Given the description of an element on the screen output the (x, y) to click on. 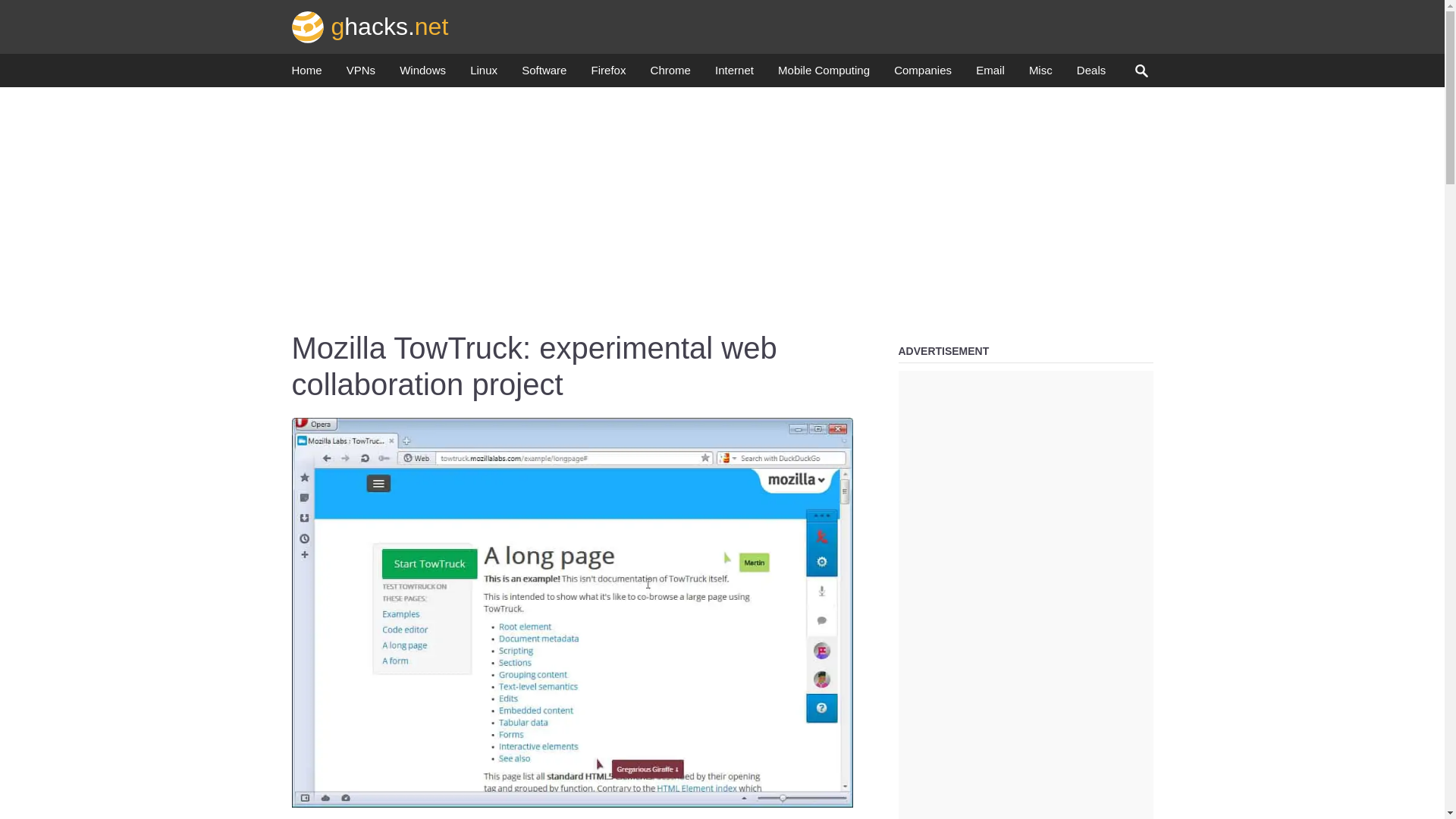
Internet (734, 73)
Software (543, 73)
Companies (922, 73)
Home (306, 73)
Chrome (670, 73)
Mobile Computing (823, 73)
VPNs (360, 73)
Firefox (608, 73)
Windows (421, 73)
Email (989, 73)
Linux (483, 73)
Misc (1040, 73)
Deals (1091, 73)
ghacks.net (369, 26)
